Given the description of an element on the screen output the (x, y) to click on. 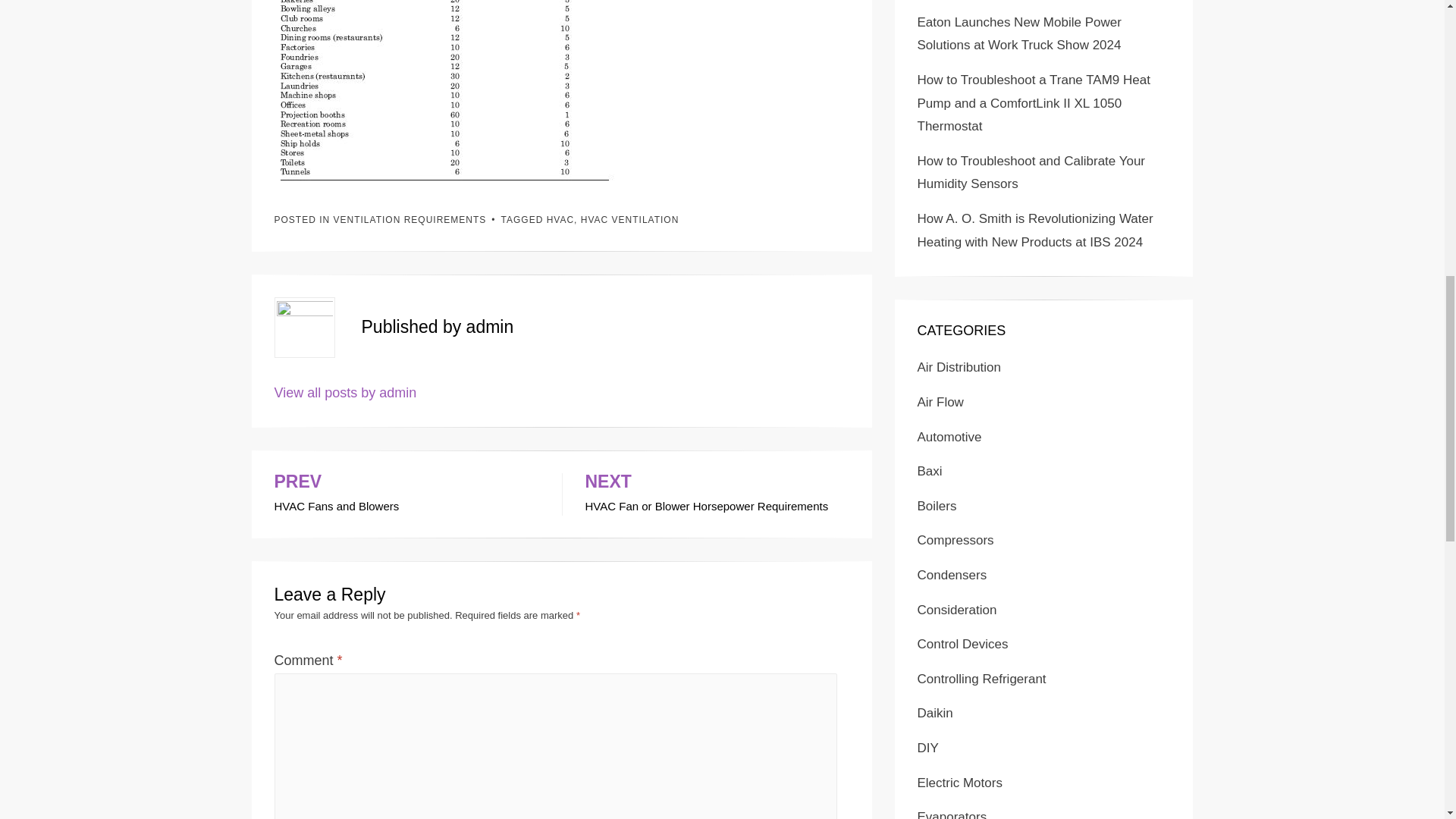
Control Devices (963, 644)
Air Distribution (959, 367)
Daikin (406, 494)
Condensers (935, 712)
Evaporators (952, 575)
Air Flow (952, 814)
Consideration (940, 401)
Compressors (957, 609)
VENTILATION REQUIREMENTS (955, 540)
View all posts by admin (409, 219)
How to Troubleshoot and Calibrate Your Humidity Sensors (345, 392)
